Given the description of an element on the screen output the (x, y) to click on. 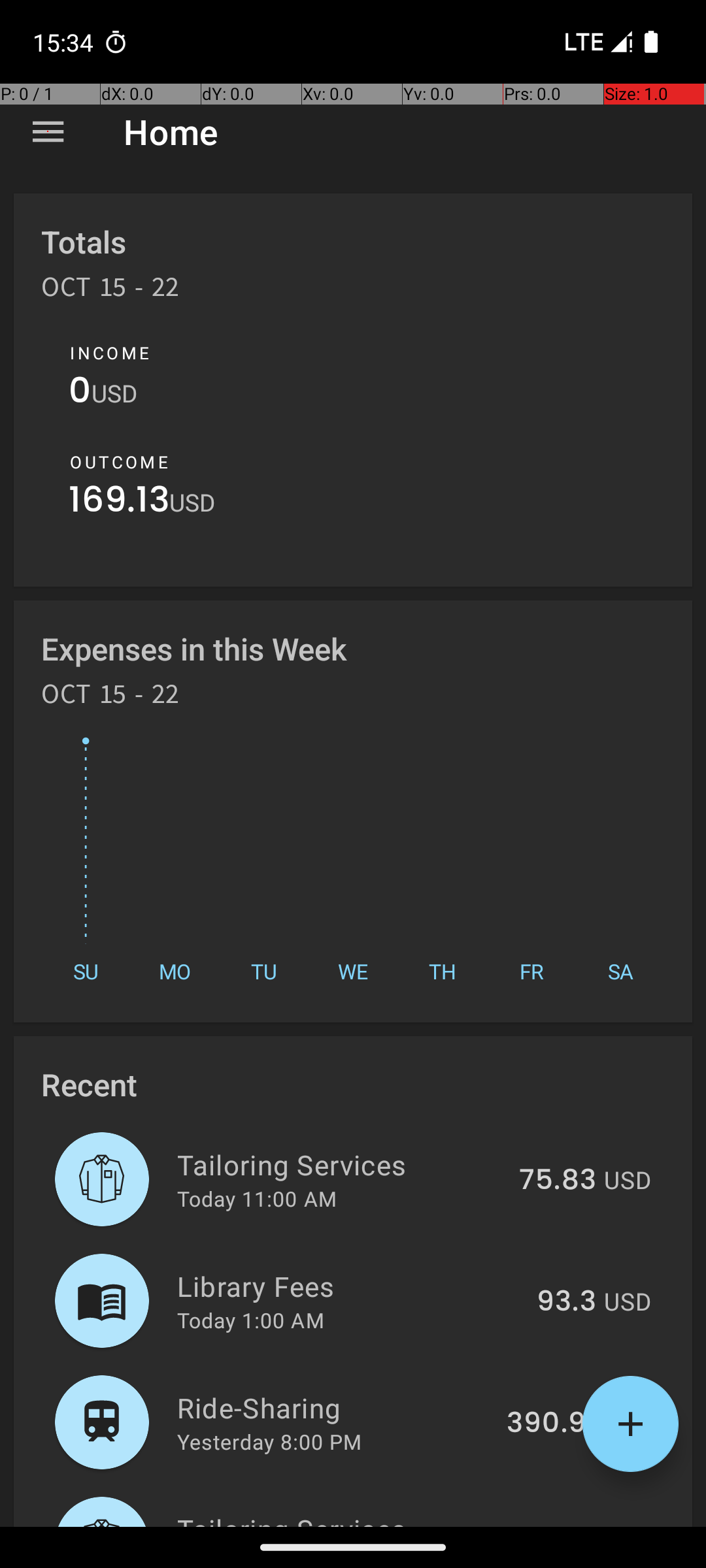
169.13 Element type: android.widget.TextView (118, 502)
Tailoring Services Element type: android.widget.TextView (340, 1164)
Today 11:00 AM Element type: android.widget.TextView (256, 1198)
75.83 Element type: android.widget.TextView (557, 1180)
Library Fees Element type: android.widget.TextView (349, 1285)
Today 1:00 AM Element type: android.widget.TextView (250, 1320)
93.3 Element type: android.widget.TextView (566, 1301)
Ride-Sharing Element type: android.widget.TextView (334, 1407)
Yesterday 8:00 PM Element type: android.widget.TextView (269, 1441)
390.91 Element type: android.widget.TextView (550, 1423)
67.49 Element type: android.widget.TextView (556, 1524)
